Given the description of an element on the screen output the (x, y) to click on. 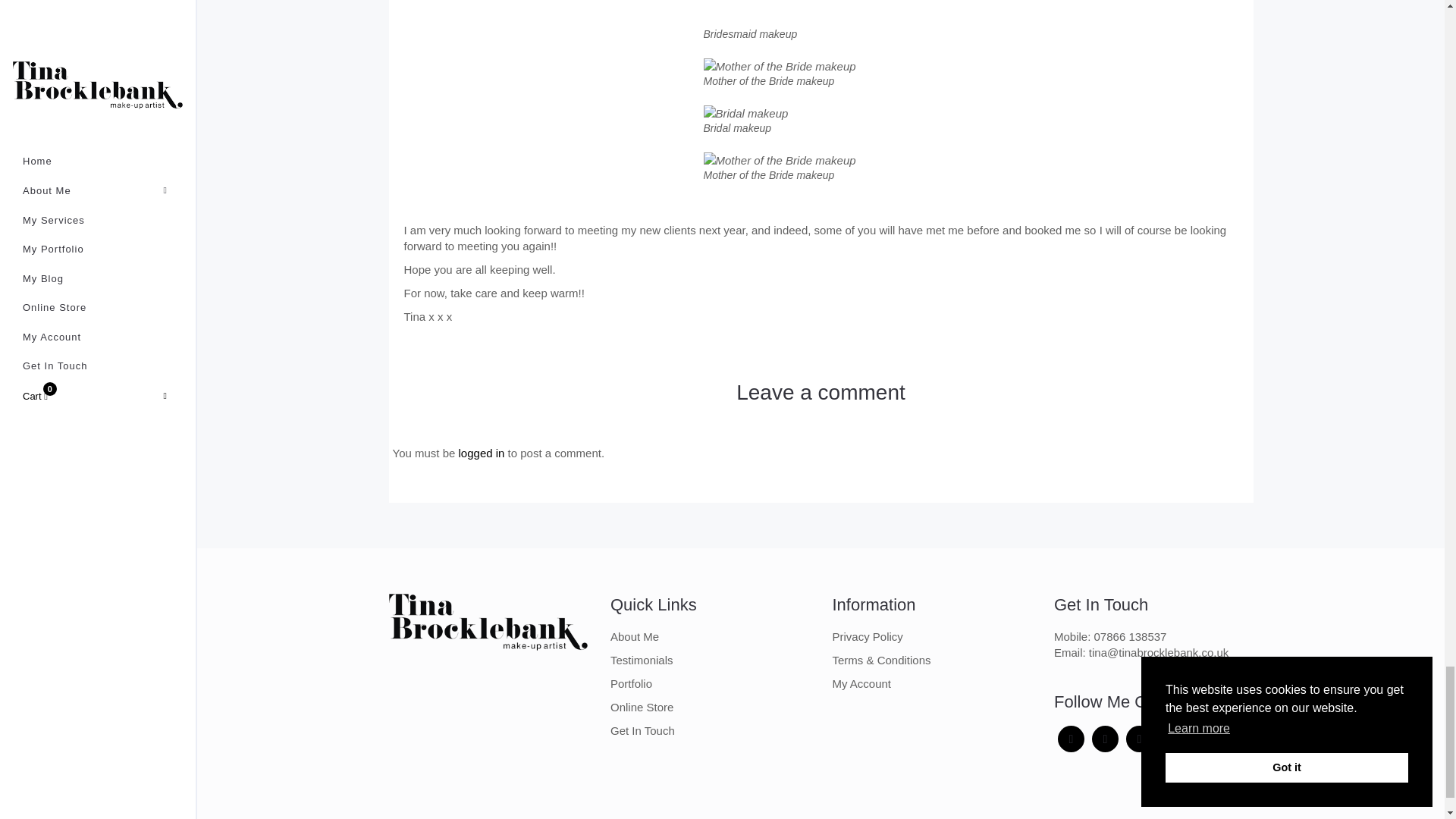
Portfolio (631, 683)
Tina Brocklebank Logo (488, 621)
My Account (861, 683)
Tina Brocklebank Instagram (1105, 738)
Testimonials (641, 659)
Tina Brocklebank Pintrest (1139, 738)
Online Store (641, 707)
Get In Touch (642, 730)
Tina Brocklebank Facebook (1071, 738)
About Me (634, 635)
logged in (481, 452)
07866 138537 (1130, 635)
Privacy Policy (867, 635)
